Given the description of an element on the screen output the (x, y) to click on. 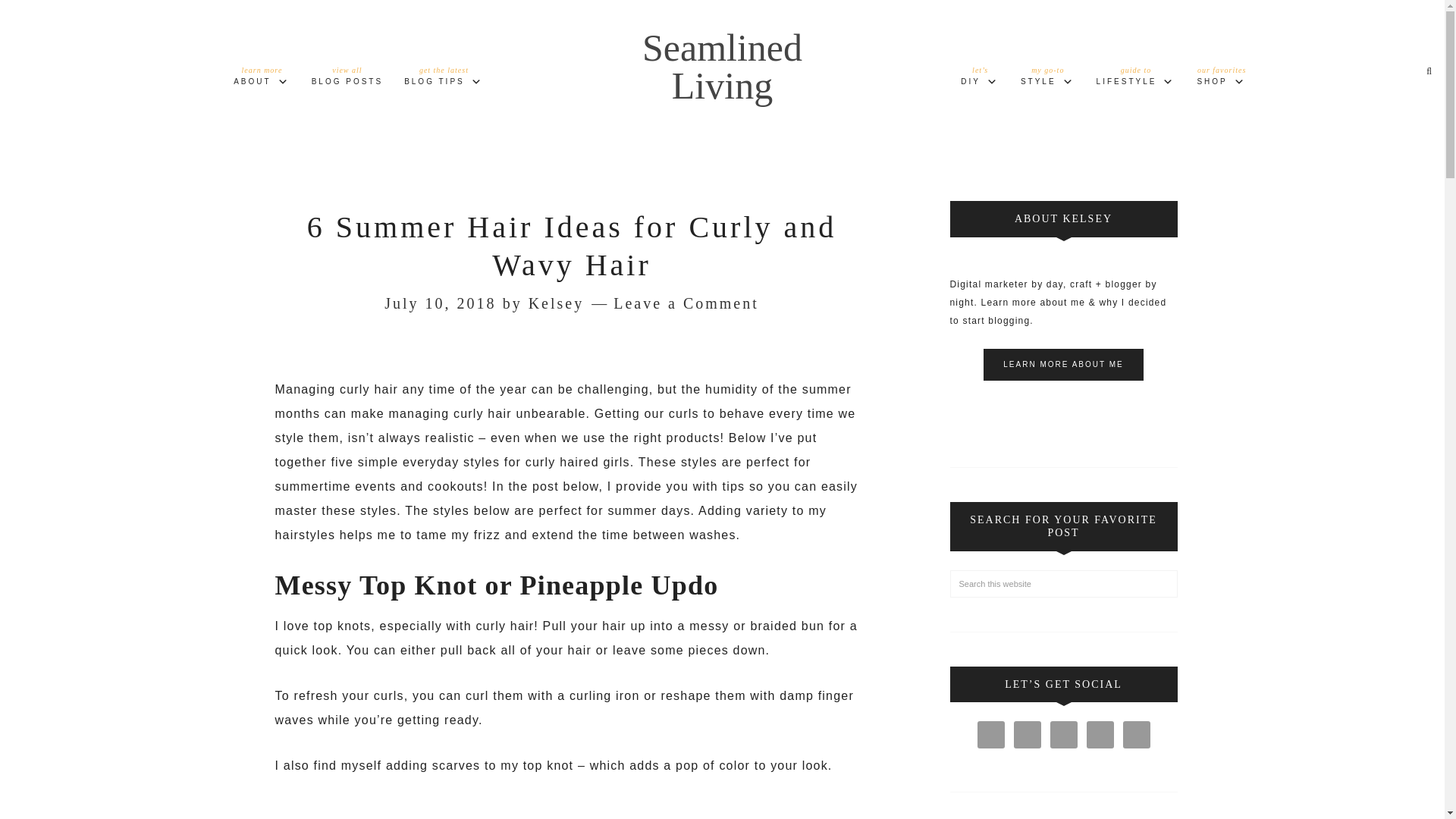
Seamlined Living (1221, 78)
Search (1136, 78)
About (722, 66)
LEARN MORE ABOUT ME (1048, 78)
